Given the description of an element on the screen output the (x, y) to click on. 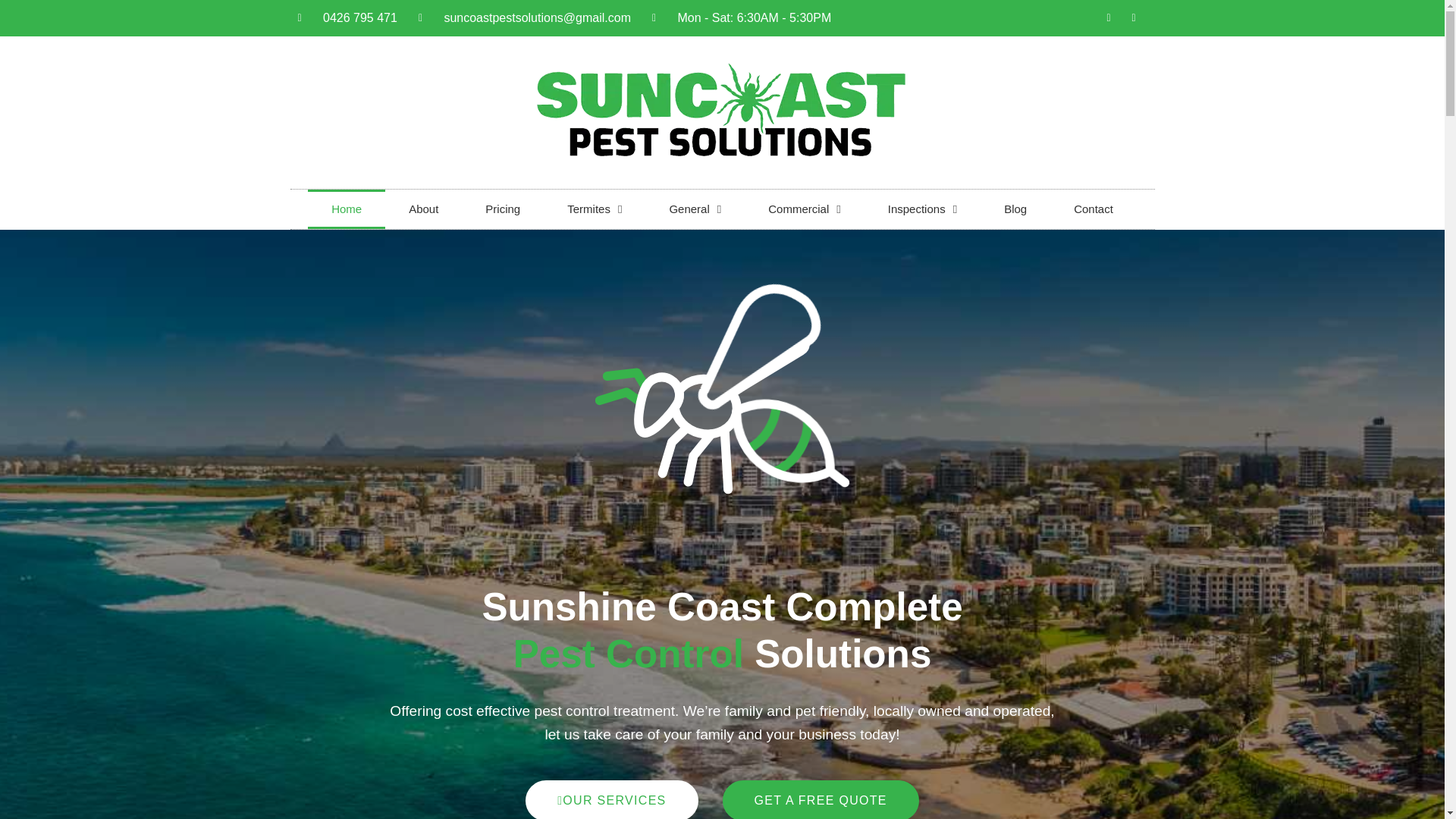
Blog (1014, 209)
0426 795 471 (346, 17)
Contact (1093, 209)
Commercial (804, 209)
Termites (594, 209)
Home (346, 209)
General (694, 209)
About (423, 209)
Pricing (502, 209)
Inspections (921, 209)
